Given the description of an element on the screen output the (x, y) to click on. 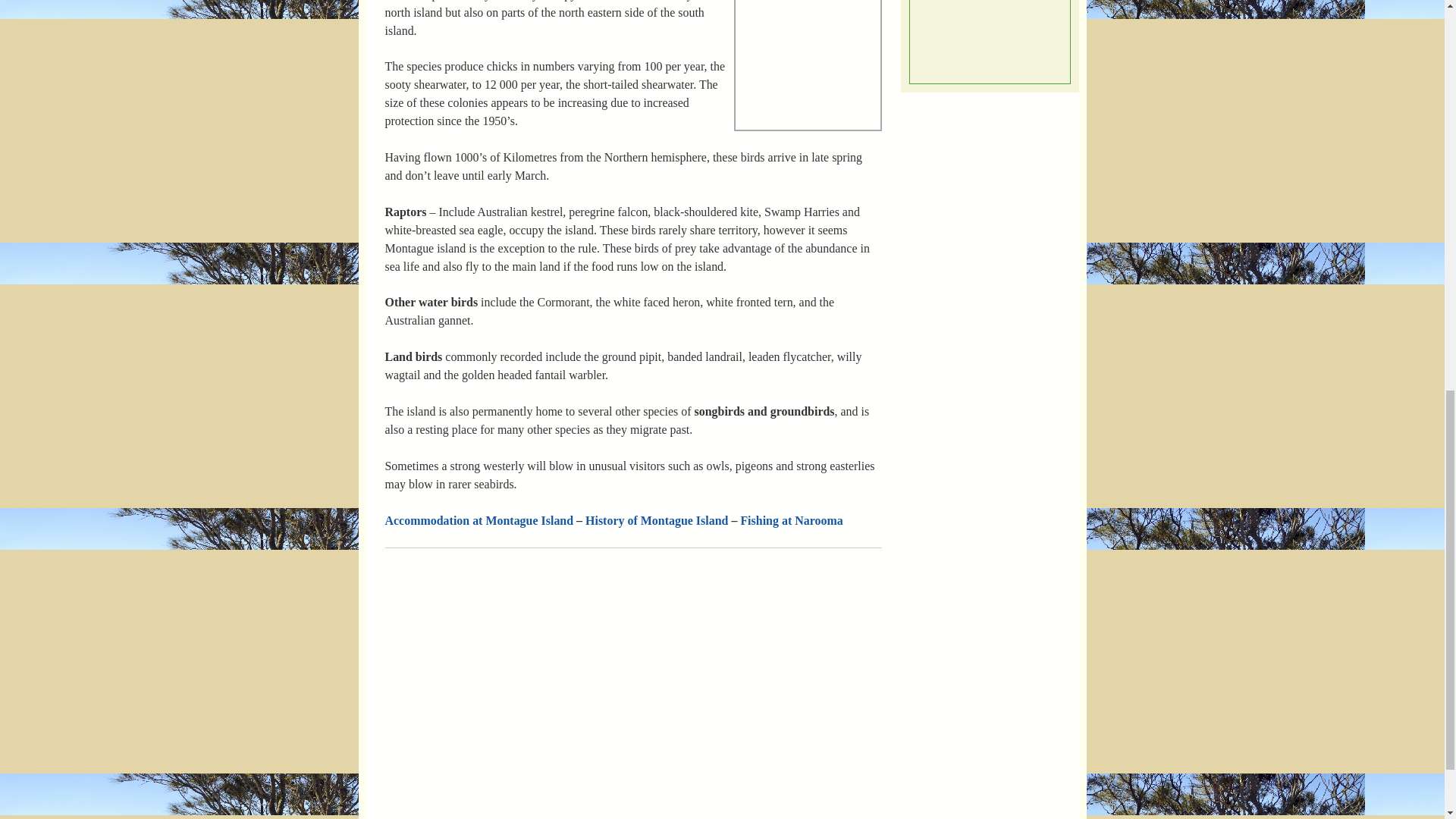
Advertisement (970, 38)
History of Montague Island (656, 520)
Accommodation at Montague Island (479, 520)
Fishing at Narooma (791, 520)
